Given the description of an element on the screen output the (x, y) to click on. 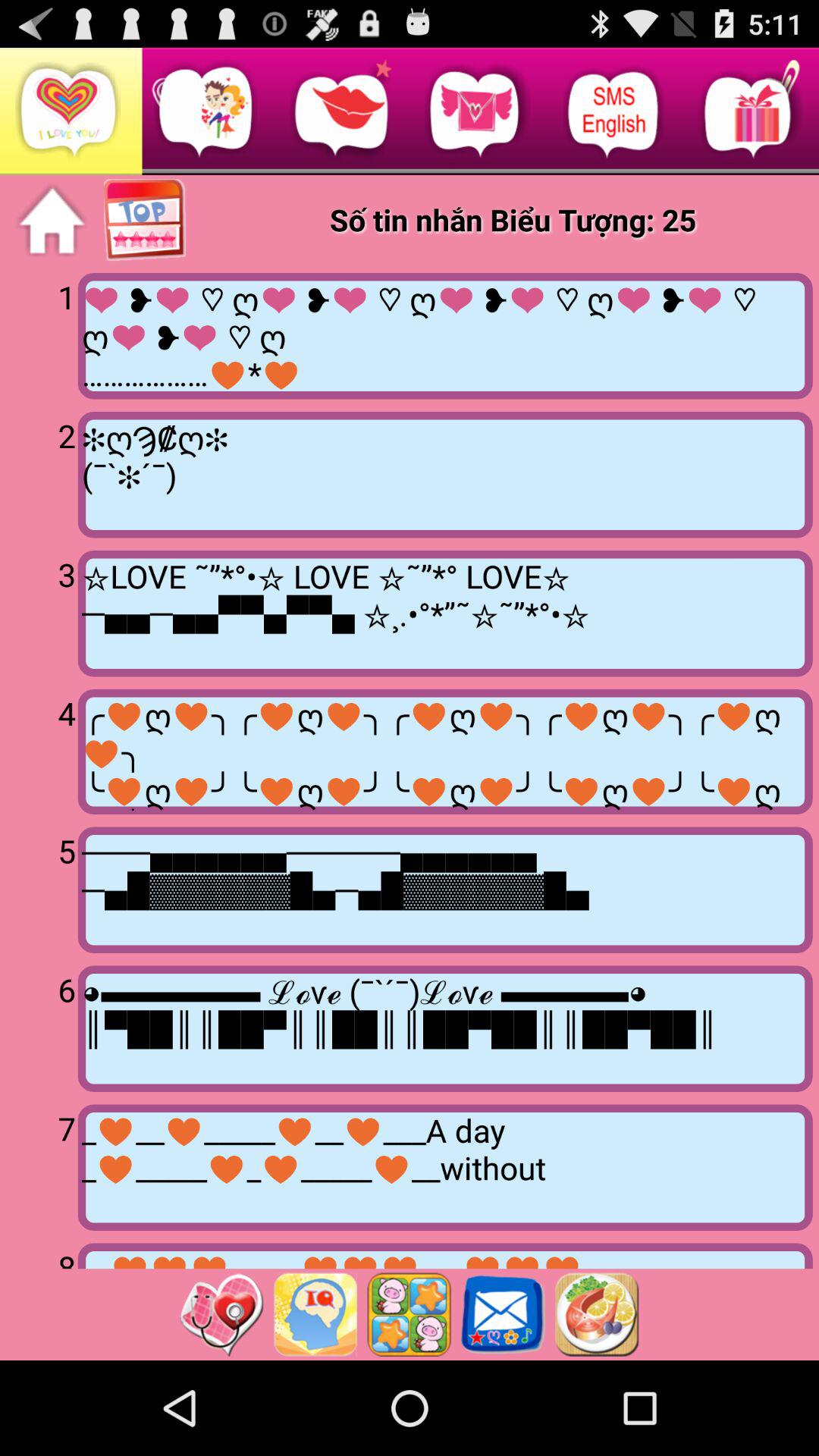
select icon style (409, 1314)
